Given the description of an element on the screen output the (x, y) to click on. 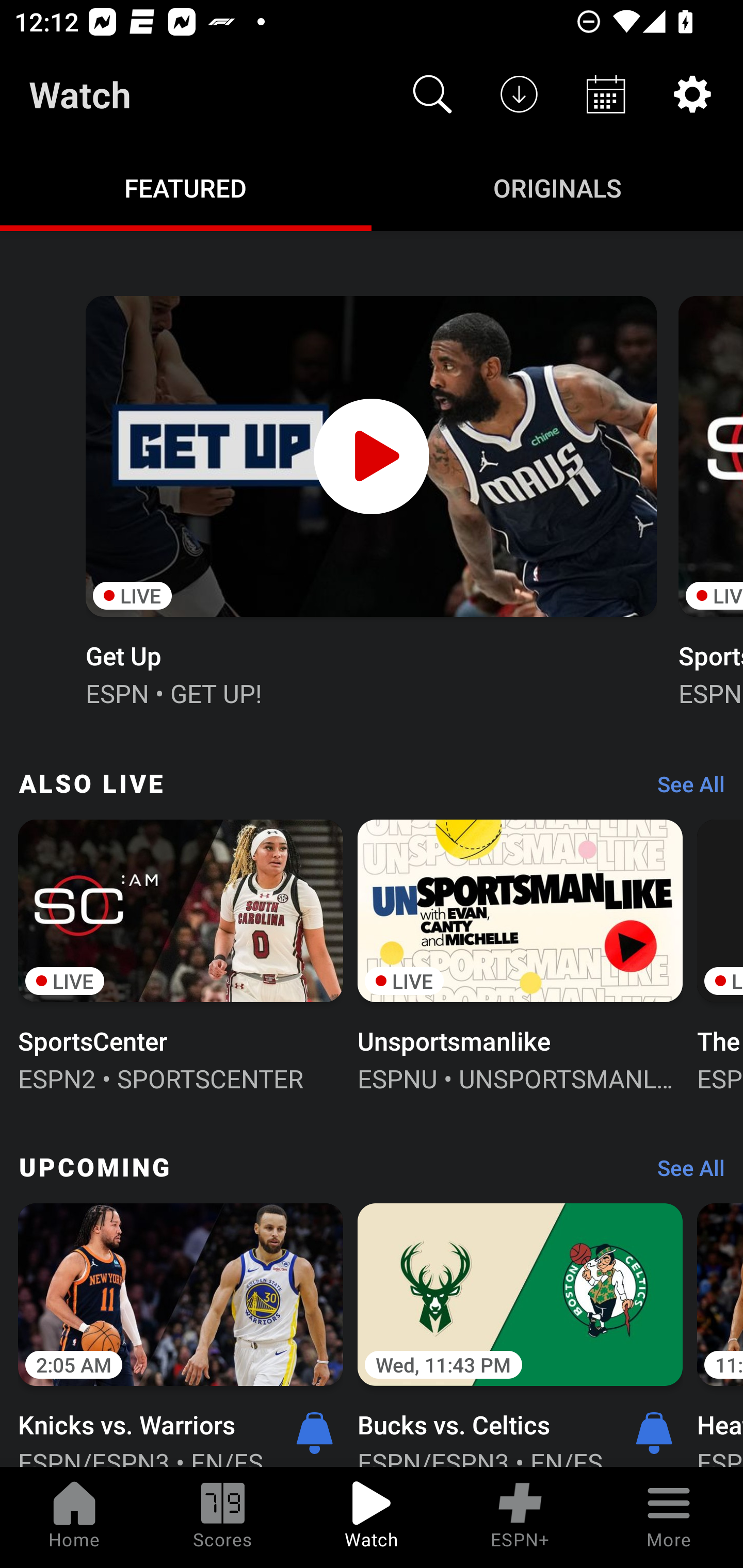
Search (432, 93)
Downloads (518, 93)
Schedule (605, 93)
Settings (692, 93)
Originals ORIGINALS (557, 187)
 LIVE Get Up ESPN • GET UP! (370, 499)
See All (683, 788)
LIVE SportsCenter ESPN2 • SPORTSCENTER (180, 954)
See All (683, 1172)
Home (74, 1517)
Scores (222, 1517)
ESPN+ (519, 1517)
More (668, 1517)
